Given the description of an element on the screen output the (x, y) to click on. 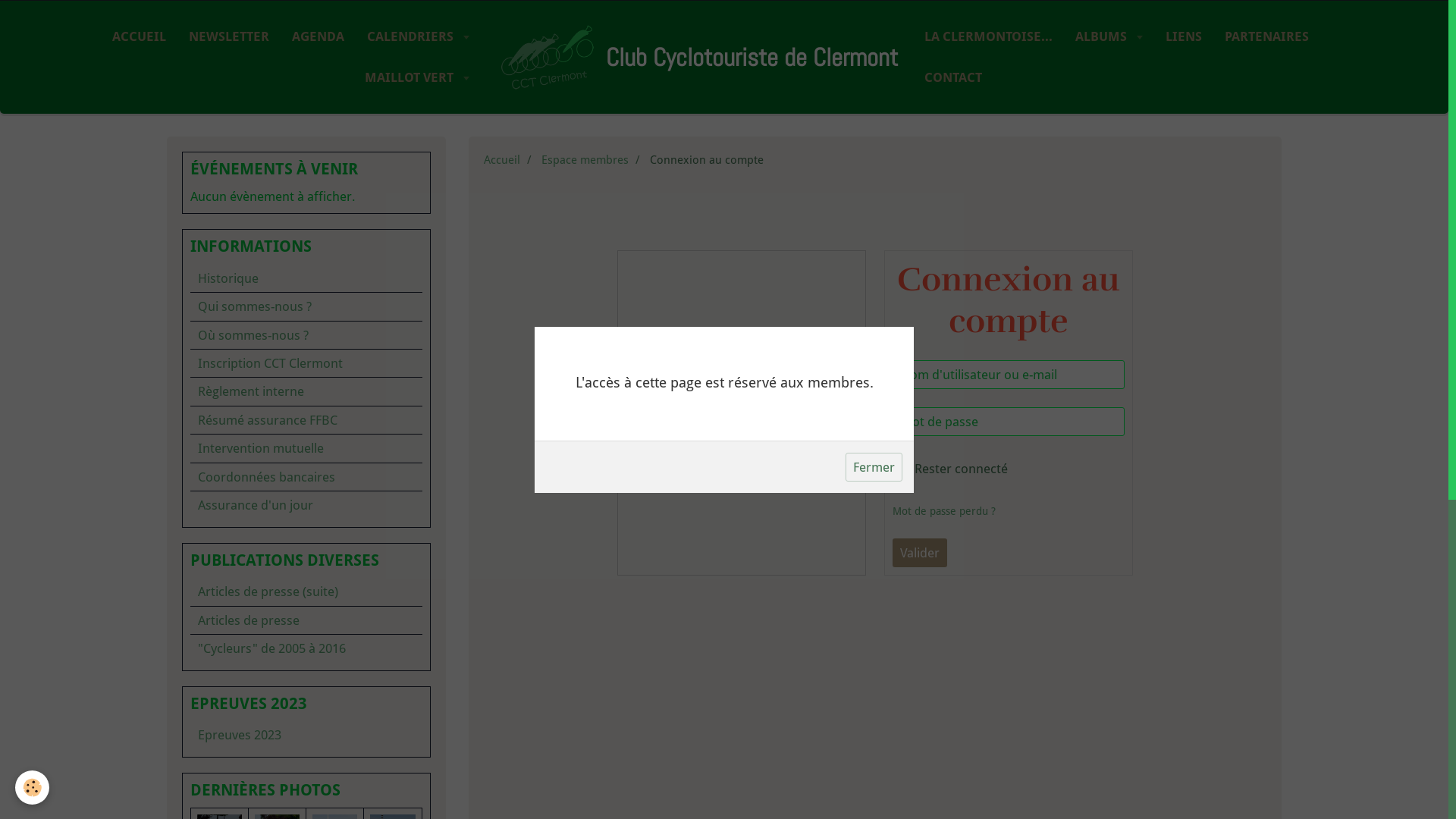
INFORMATIONS Element type: text (306, 247)
EPREUVES 2023 Element type: text (306, 704)
LA CLERMONTOISE... Element type: text (988, 35)
Articles de presse Element type: text (306, 619)
CALENDRIERS Element type: text (417, 35)
PUBLICATIONS DIVERSES Element type: text (306, 561)
Accueil Element type: text (501, 159)
Articles de presse (suite) Element type: text (306, 591)
CONTACT Element type: text (953, 76)
Fermer Element type: text (873, 465)
NEWSLETTER Element type: text (228, 35)
Inscription CCT Clermont Element type: text (306, 362)
Club Cyclotouriste de Clermont Element type: text (696, 56)
AGENDA Element type: text (317, 35)
Intervention mutuelle Element type: text (306, 447)
Assurance d'un jour Element type: text (306, 504)
LIENS Element type: text (1183, 35)
ALBUMS Element type: text (1108, 35)
Espace membres Element type: text (584, 159)
PARTENAIRES Element type: text (1266, 35)
Mot de passe perdu ? Element type: text (943, 511)
MAILLOT VERT Element type: text (416, 76)
ACCUEIL Element type: text (138, 35)
Inscription Element type: text (741, 438)
Epreuves 2023 Element type: text (306, 734)
Valider Element type: text (919, 552)
Historique Element type: text (306, 277)
Qui sommes-nous ? Element type: text (306, 306)
